Given the description of an element on the screen output the (x, y) to click on. 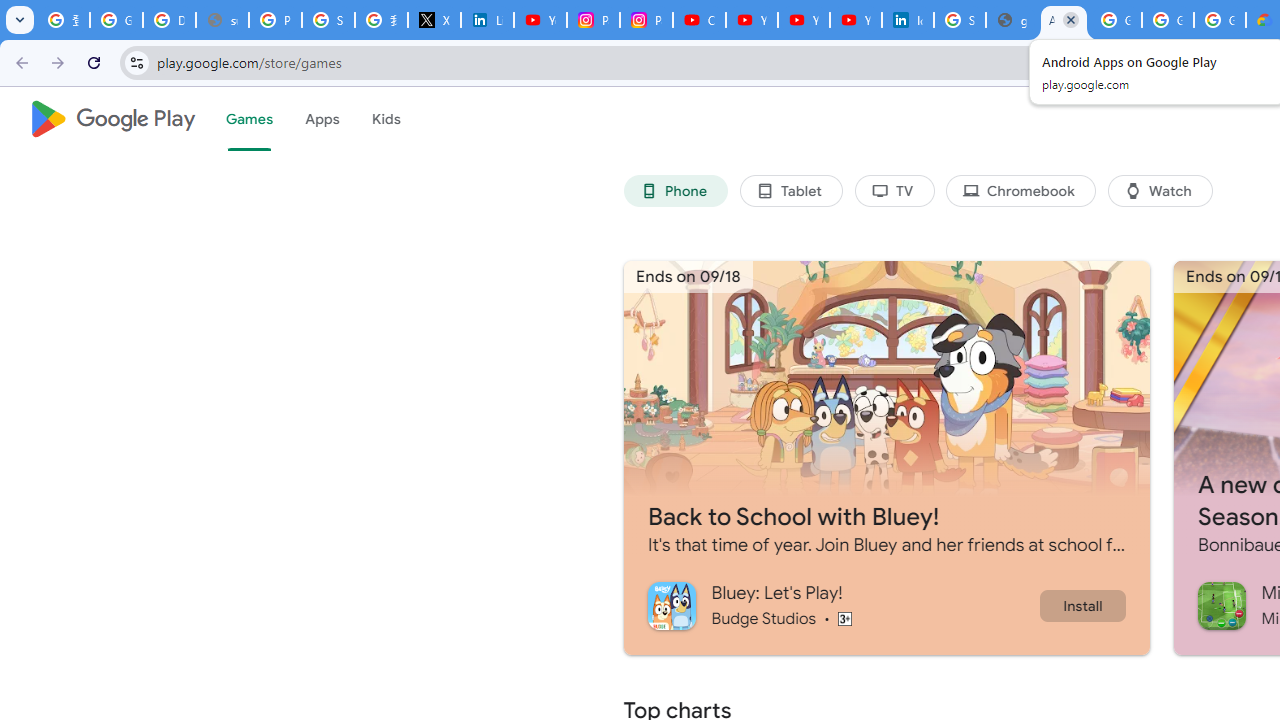
Install (1082, 605)
Privacy Help Center - Policies Help (275, 20)
Games (248, 119)
YouTube Culture & Trends - YouTube Top 10, 2021 (803, 20)
Sign in - Google Accounts (328, 20)
X (434, 20)
Chromebook (1020, 190)
